Given the description of an element on the screen output the (x, y) to click on. 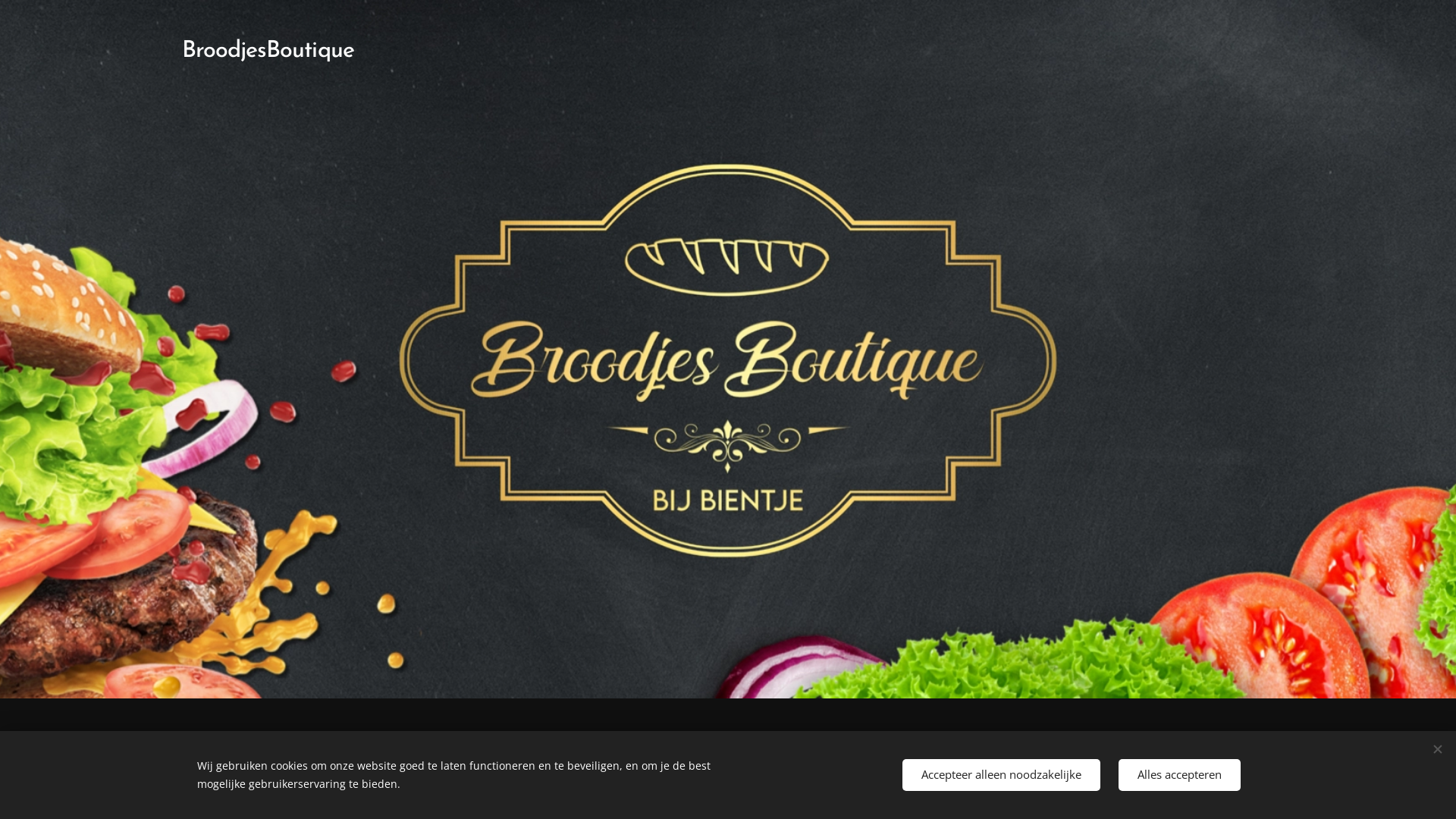
Alles accepteren Element type: text (1179, 774)
Accepteer alleen noodzakelijke Element type: text (1001, 774)
Met een smile gemaakt door Studio Kosmoo Element type: text (701, 767)
Cookies Element type: text (844, 767)
